Given the description of an element on the screen output the (x, y) to click on. 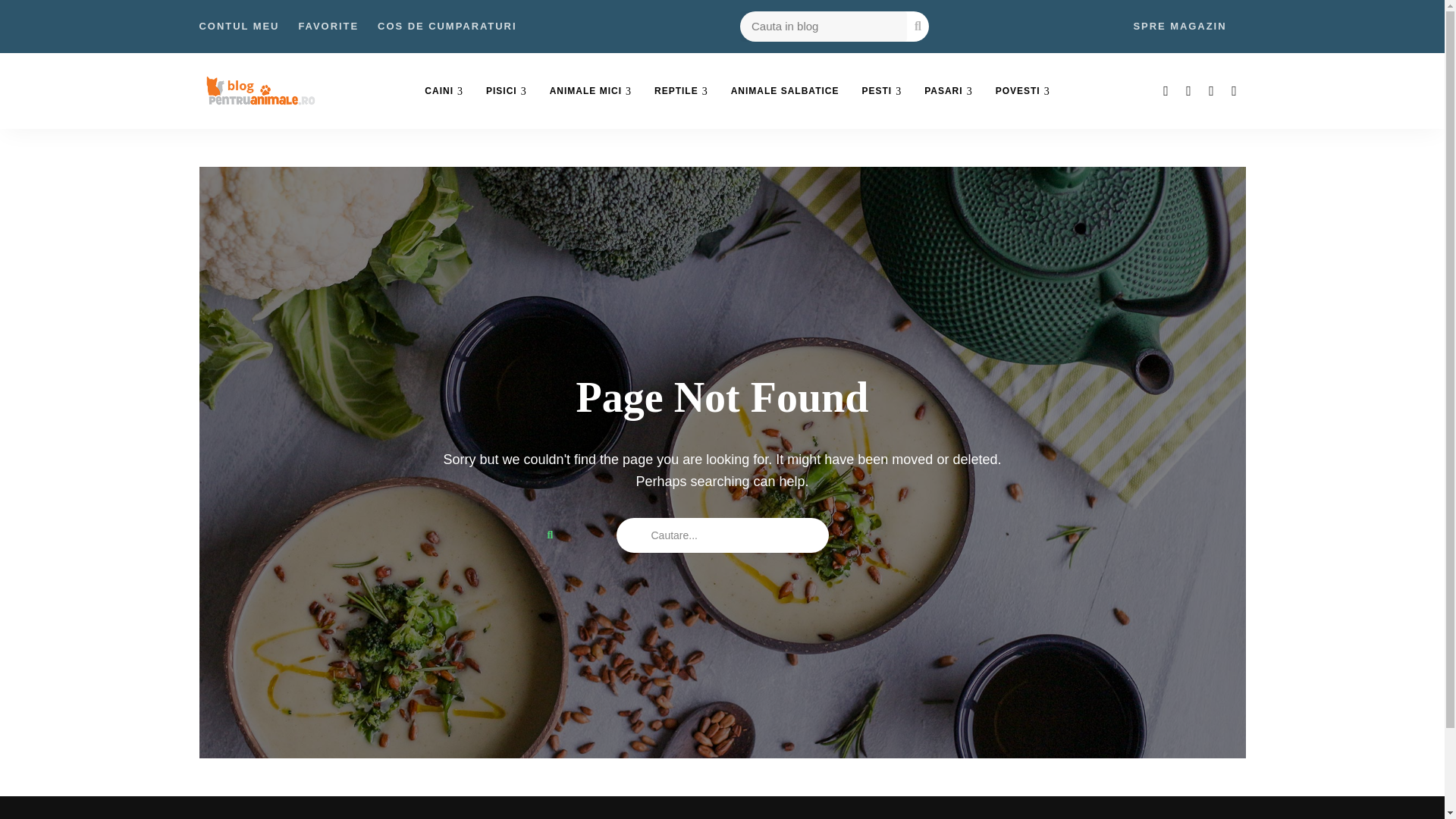
PASARI (948, 90)
POVESTI (1022, 90)
SPRE MAGAZIN (1178, 26)
CONTUL MEU (238, 26)
REPTILE (681, 90)
ANIMALE SALBATICE (784, 90)
ANIMALE MICI (590, 90)
COS DE CUMPARATURI (446, 26)
FAVORITE (328, 26)
